Given the description of an element on the screen output the (x, y) to click on. 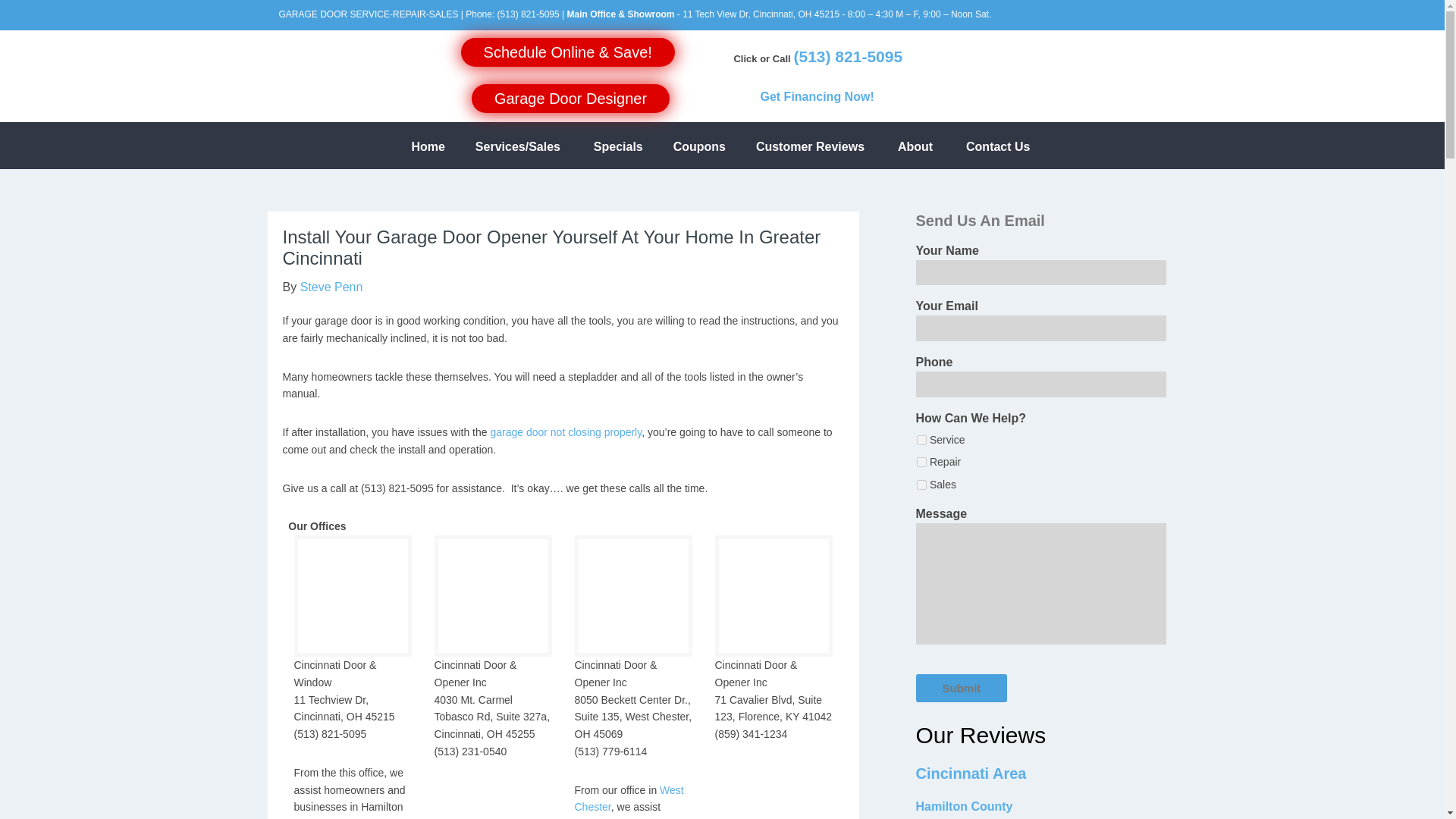
Garage Door Designer (570, 100)
Get Financing Now! (816, 96)
Coupons (698, 146)
Repair (920, 461)
Home (427, 146)
Contact Us (997, 146)
About (915, 146)
Specials (618, 146)
Submit (961, 687)
Service (920, 439)
